Given the description of an element on the screen output the (x, y) to click on. 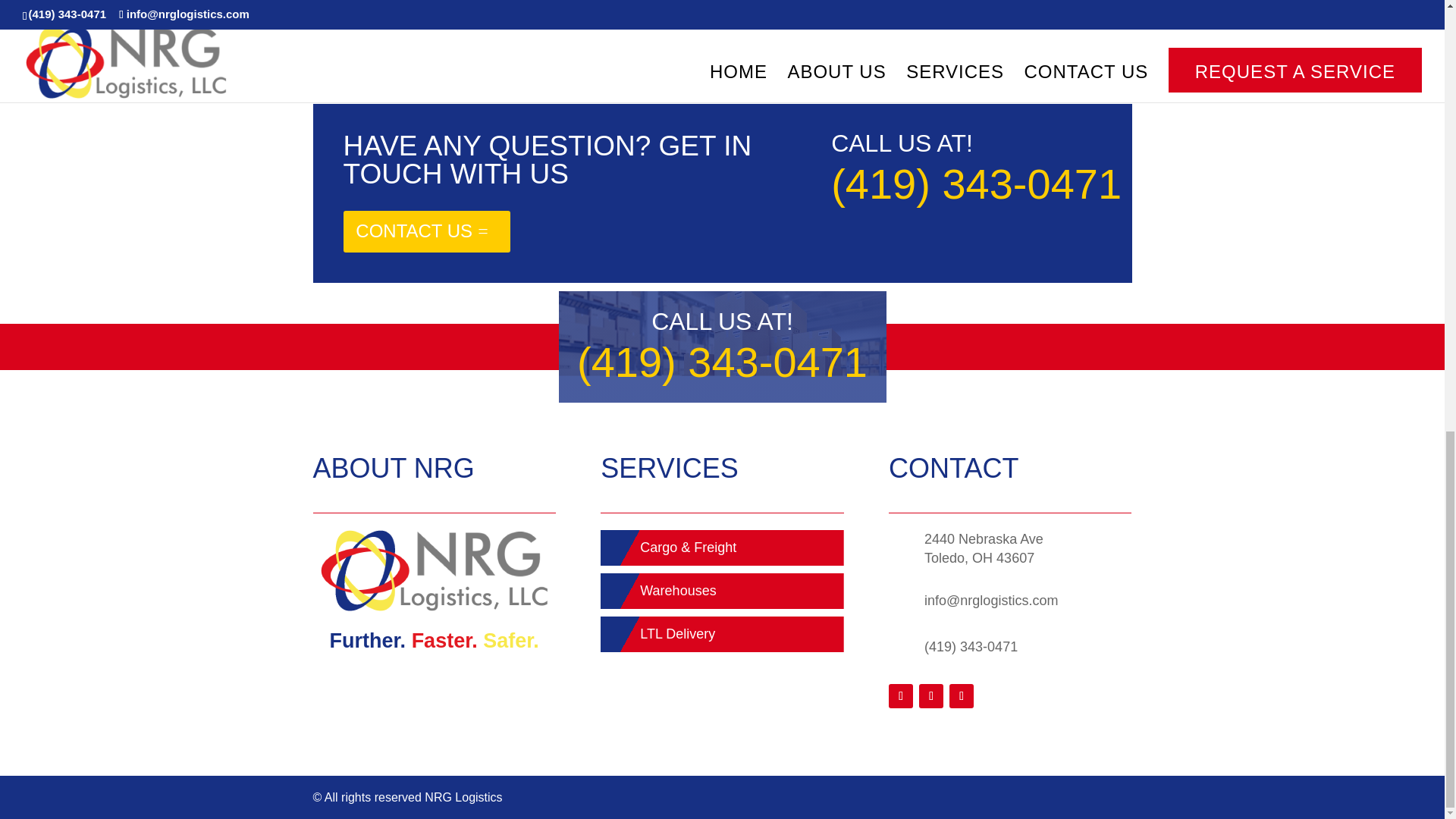
Follow on Twitter (930, 695)
CONTACT US (426, 231)
Follow on Facebook (900, 695)
Follow on Instagram (961, 695)
